Given the description of an element on the screen output the (x, y) to click on. 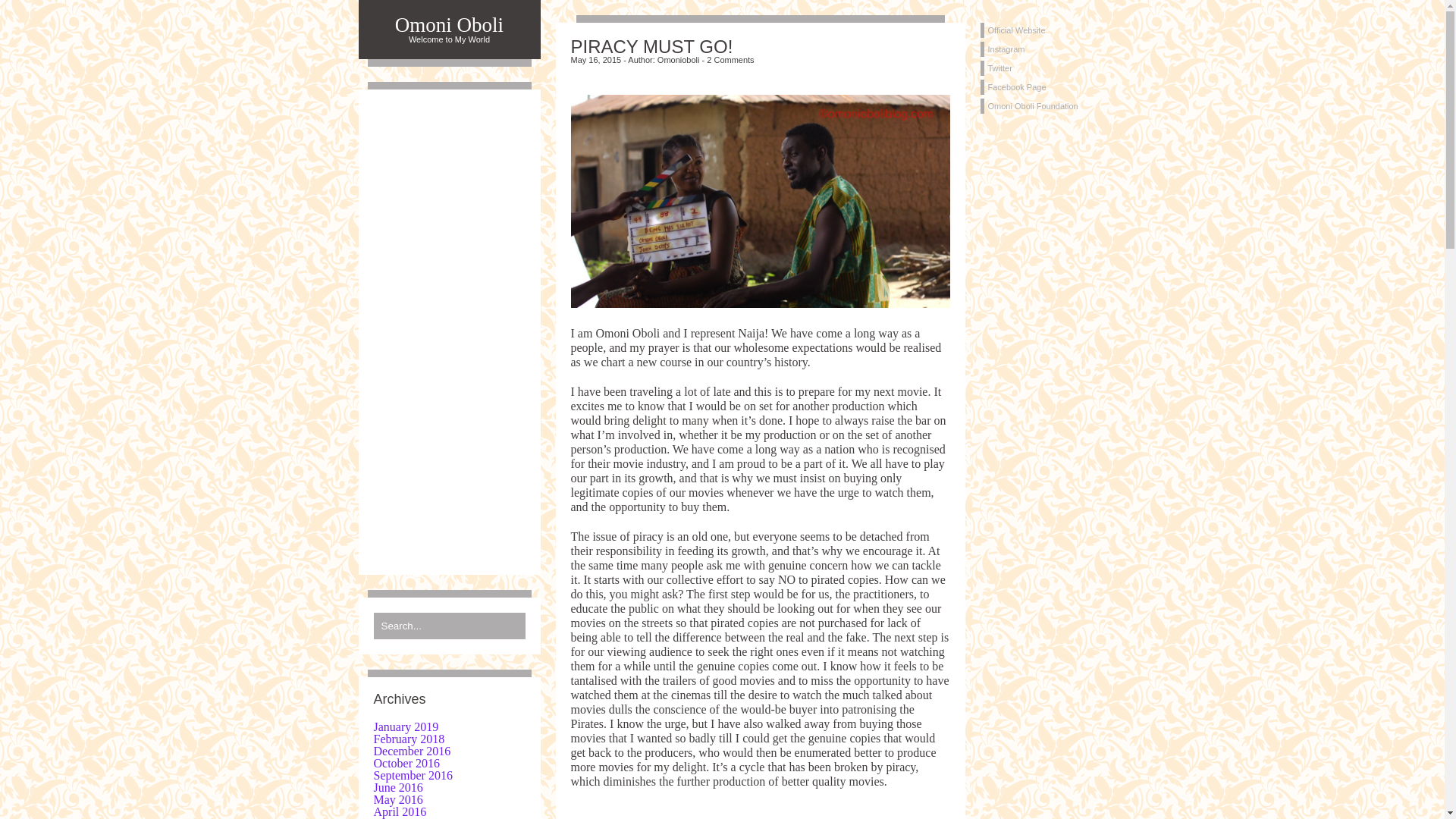
PIRACY MUST GO! (759, 46)
January 2019 (405, 726)
December 2016 (410, 750)
Search... (448, 625)
February 2018 (408, 738)
October 2016 (405, 762)
March 2016 (402, 818)
May 2016 (397, 799)
Search (29, 13)
Omoni Oboli (448, 25)
